Given the description of an element on the screen output the (x, y) to click on. 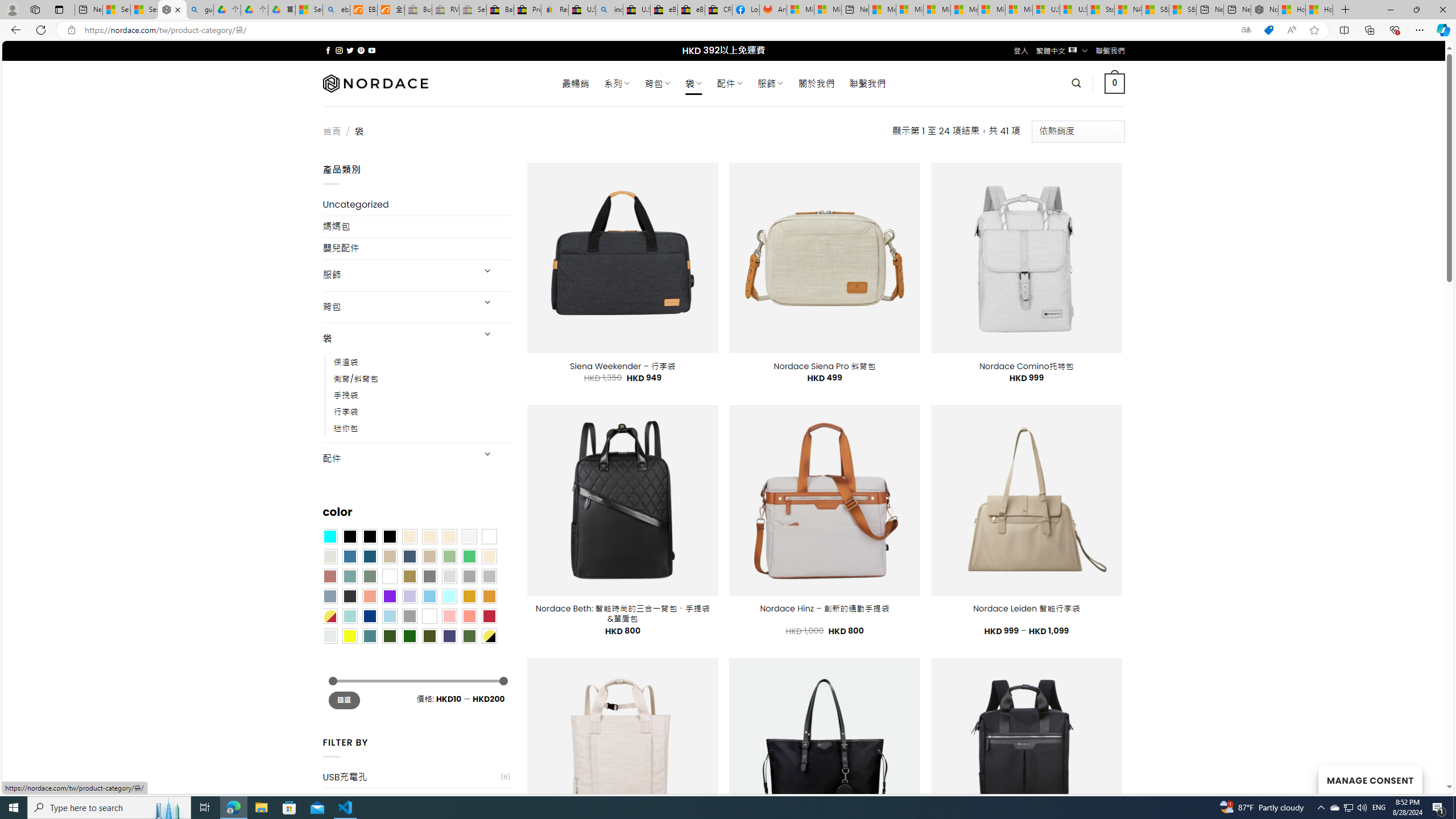
 0  (1115, 83)
eBay Inc. Reports Third Quarter 2023 Results (691, 9)
